Given the description of an element on the screen output the (x, y) to click on. 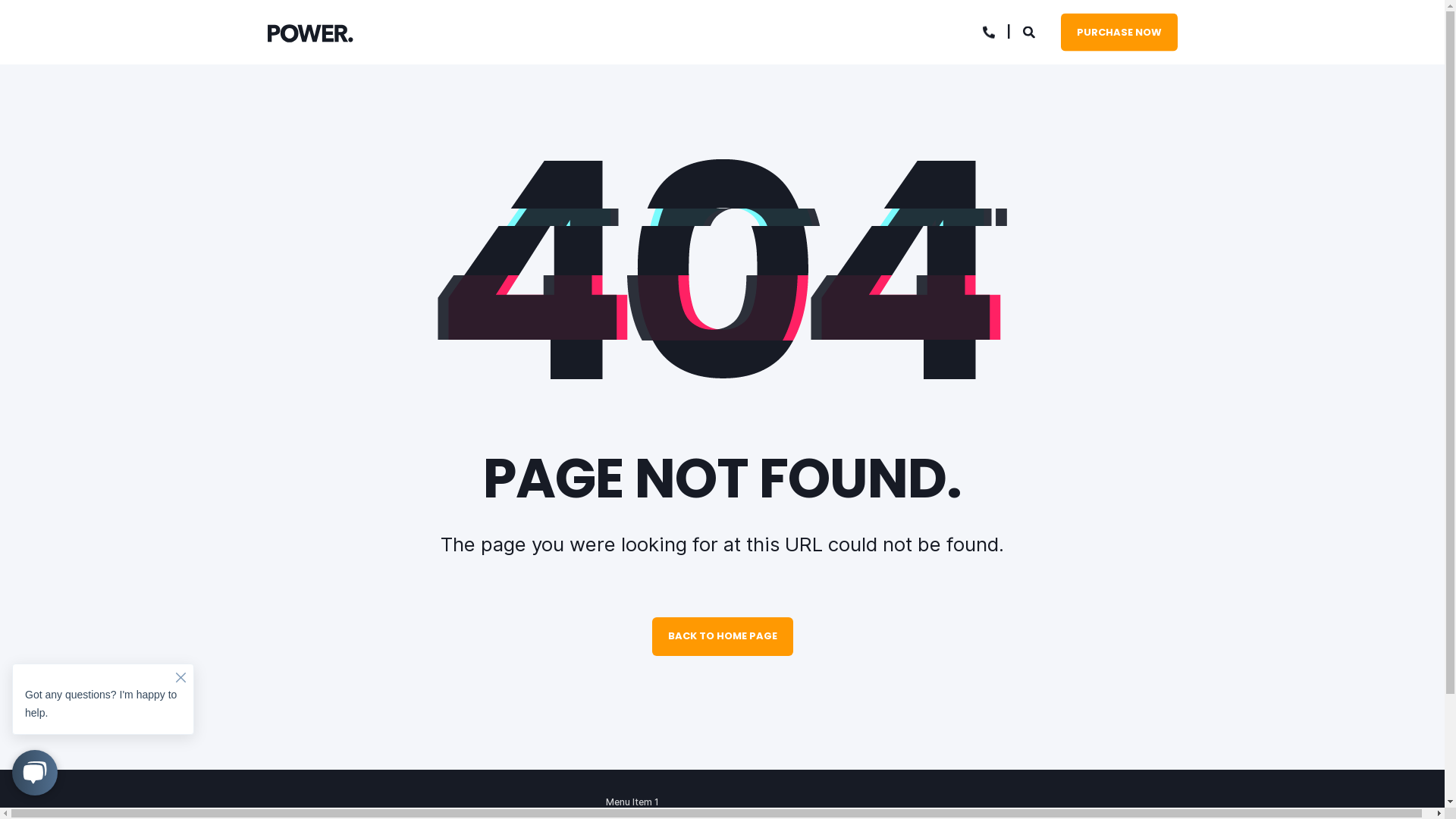
PURCHASE NOW Element type: text (1118, 31)
BACK TO HOME PAGE Element type: text (722, 636)
Menu Item 1 Element type: text (631, 801)
